Given the description of an element on the screen output the (x, y) to click on. 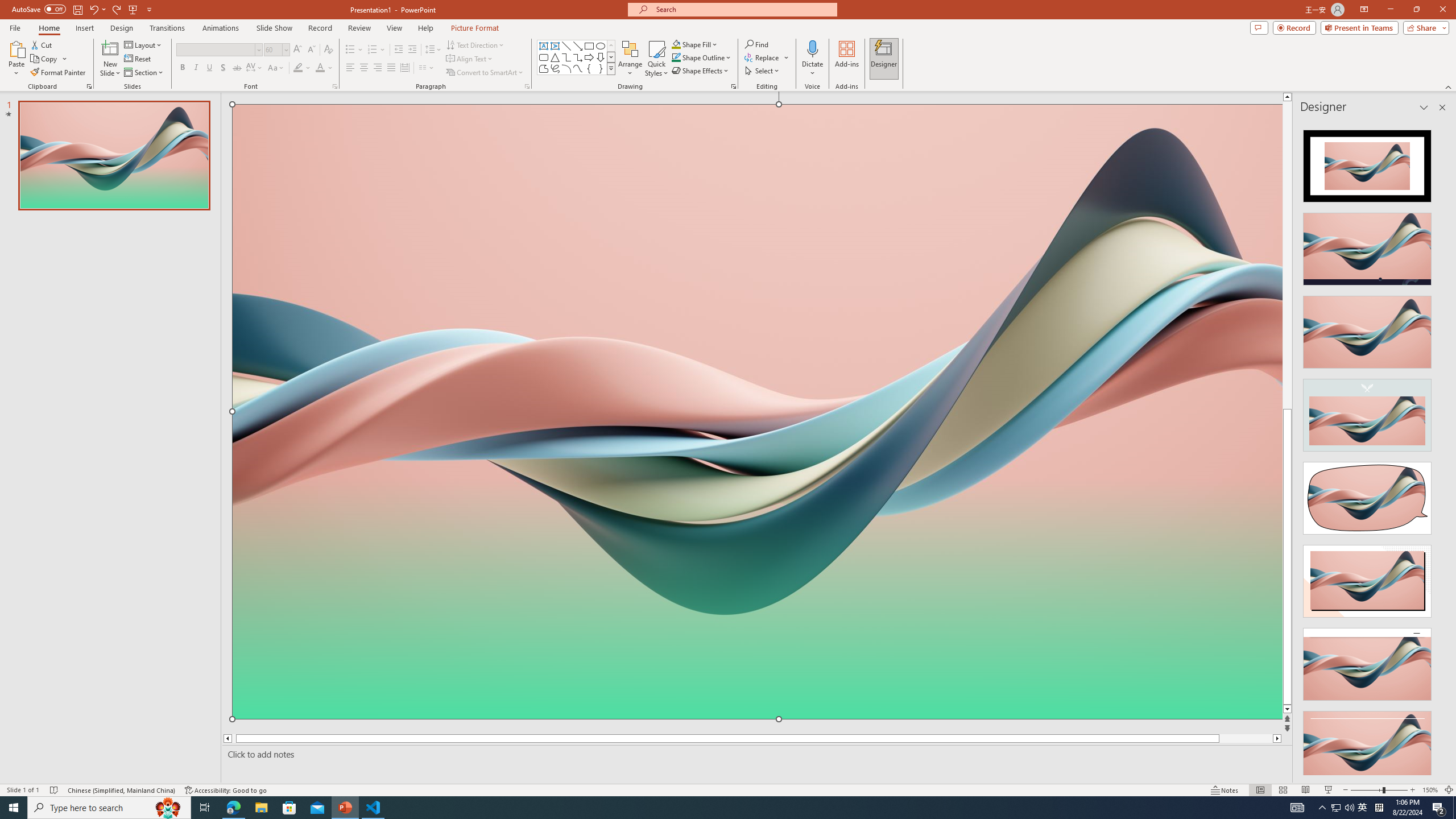
Shape Outline Blue, Accent 1 (675, 56)
Shape Fill Orange, Accent 2 (675, 44)
